Given the description of an element on the screen output the (x, y) to click on. 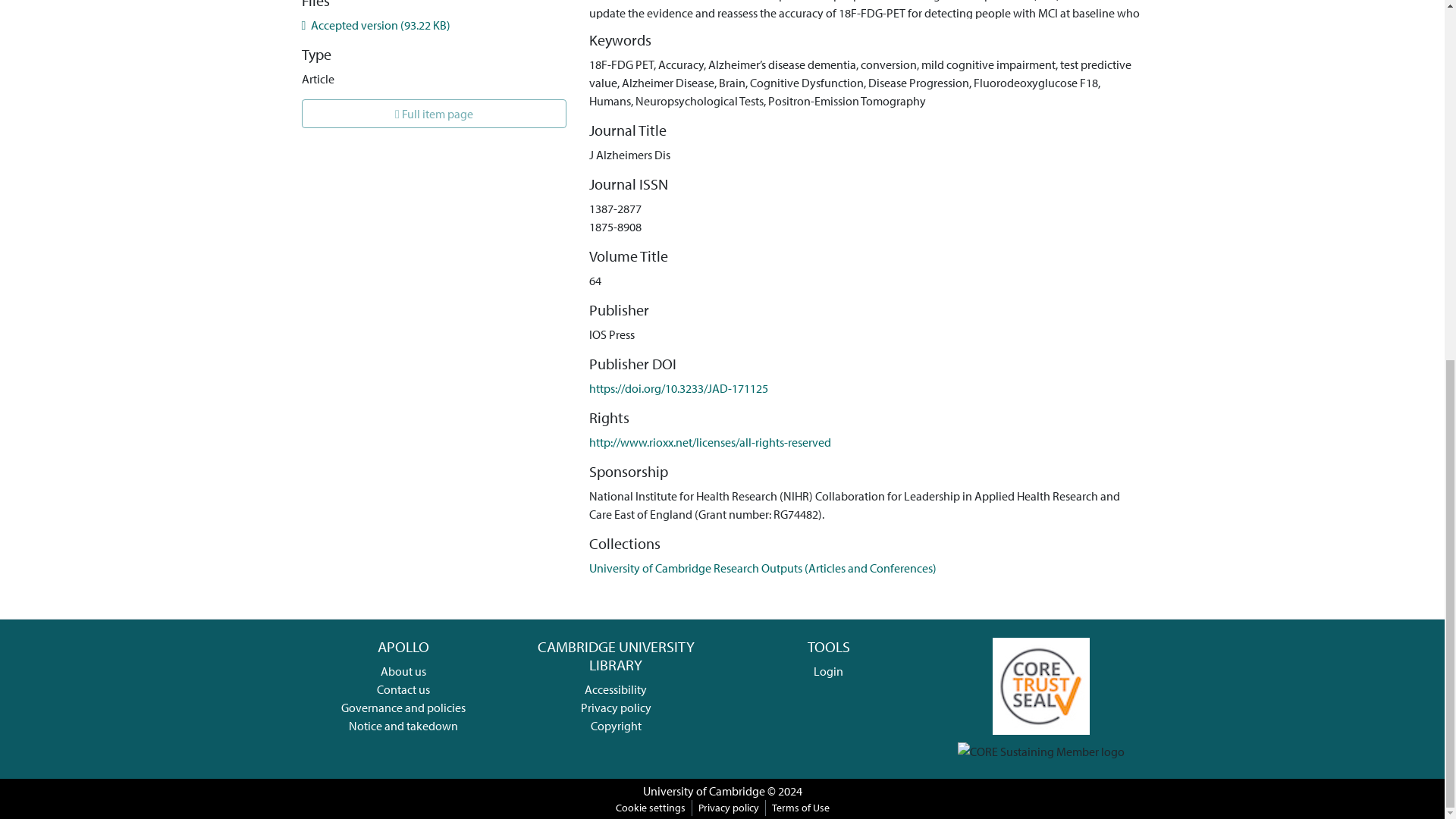
Governance and policies (402, 707)
Notice and takedown (403, 725)
Apollo CTS full application (1040, 684)
Contact us (403, 688)
Full item page (434, 113)
About us (403, 670)
